Given the description of an element on the screen output the (x, y) to click on. 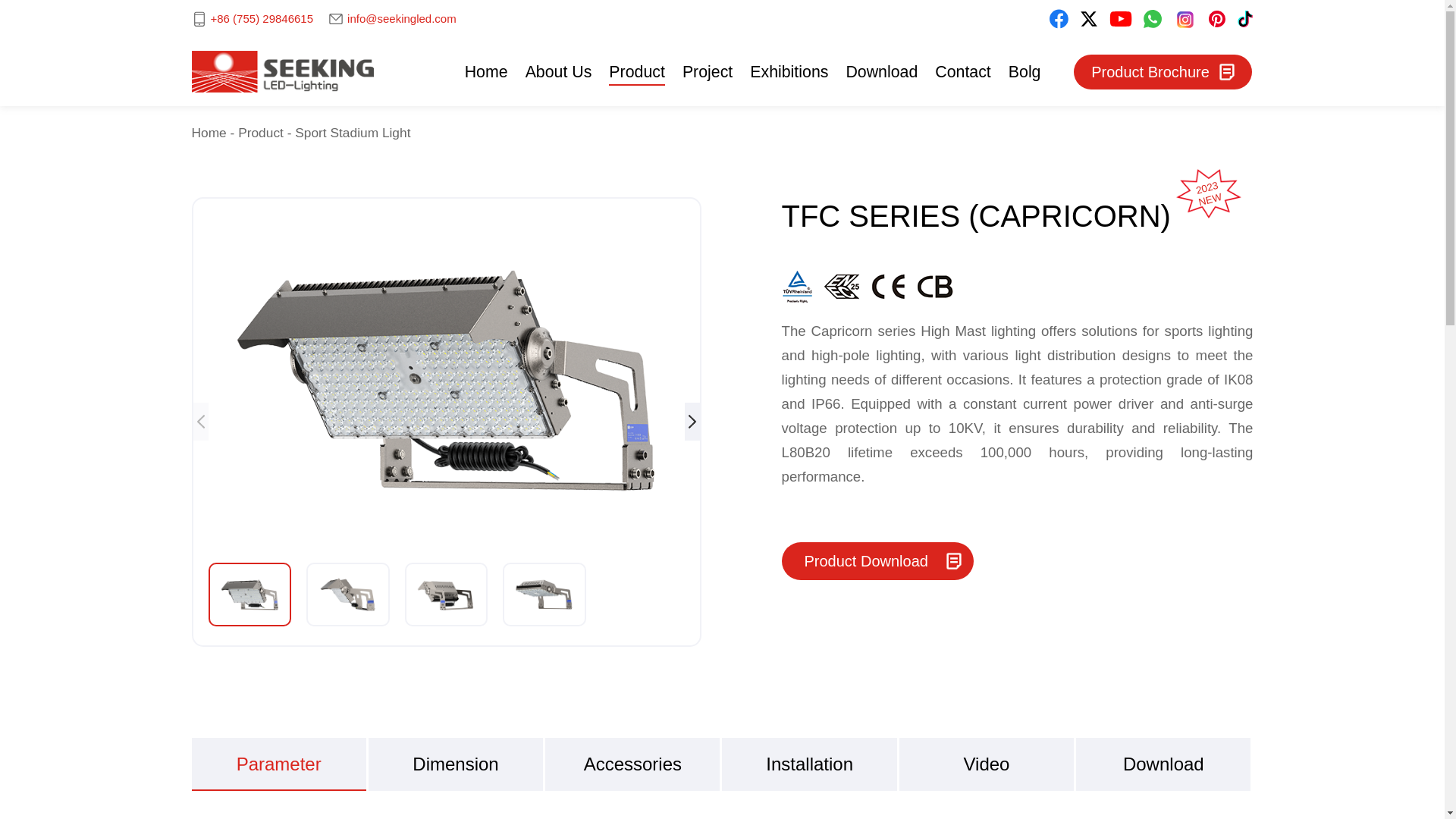
Contact (962, 71)
Download (881, 71)
Home (486, 71)
Product Brochure (1163, 71)
Product (636, 71)
Exhibitions (788, 71)
About Us (558, 71)
Bolg (1025, 71)
Home (486, 71)
Project (707, 71)
